Given the description of an element on the screen output the (x, y) to click on. 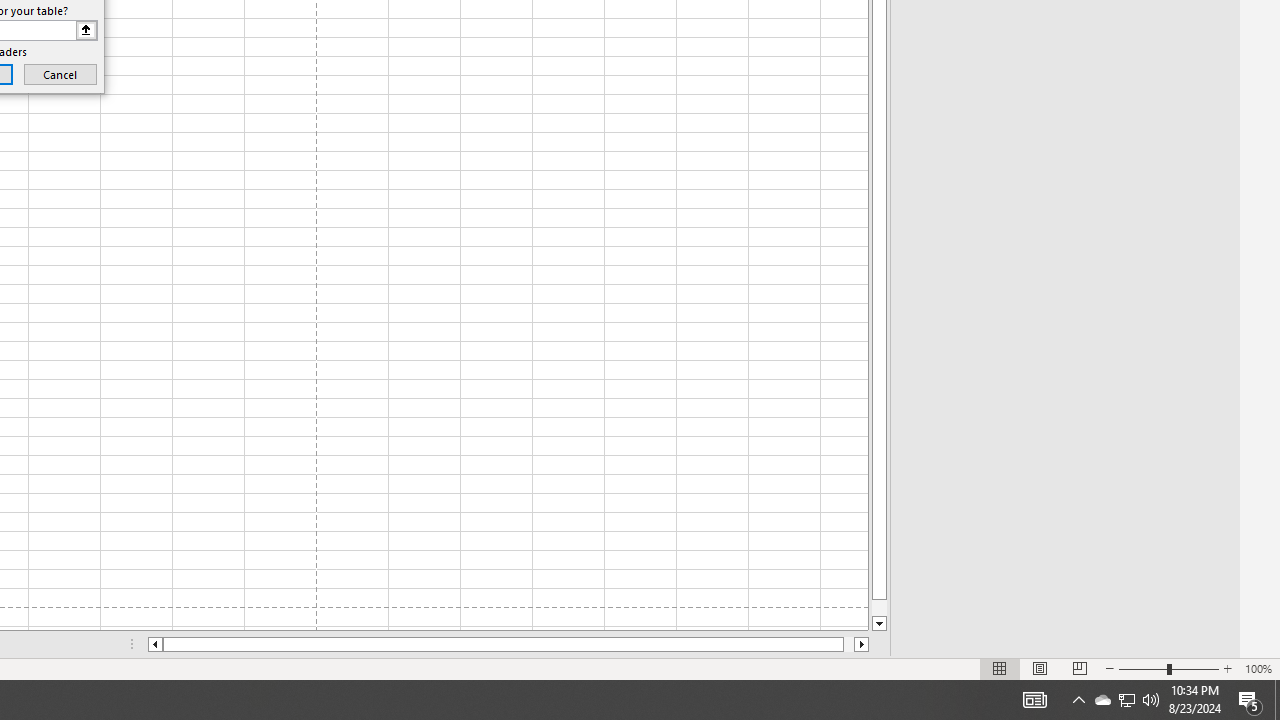
Zoom In (1227, 668)
Zoom (1168, 668)
Column right (861, 644)
Page Break Preview (1079, 668)
Column left (153, 644)
Normal (1000, 668)
Class: NetUIScrollBar (507, 644)
Page down (879, 607)
Zoom Out (1142, 668)
Line down (879, 624)
Page right (848, 644)
